Given the description of an element on the screen output the (x, y) to click on. 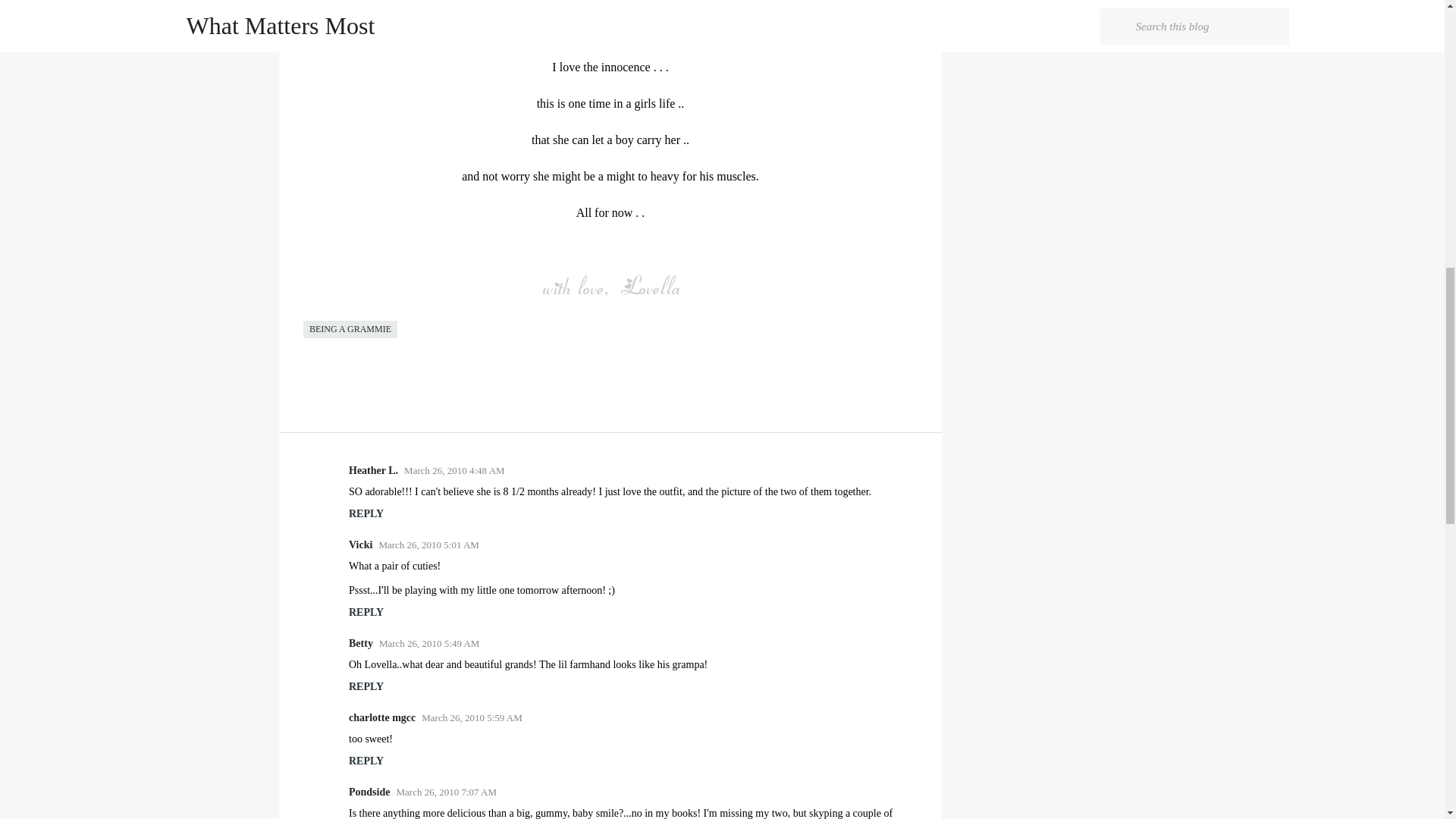
Heather L. (373, 470)
REPLY (366, 513)
Vicki (360, 544)
March 26, 2010 4:48 AM (454, 470)
REPLY (366, 686)
charlotte mgcc (381, 717)
March 26, 2010 5:49 AM (429, 643)
March 26, 2010 5:59 AM (472, 717)
BEING A GRAMMIE (349, 329)
REPLY (366, 612)
REPLY (366, 760)
Betty (360, 643)
March 26, 2010 5:01 AM (428, 544)
